Given the description of an element on the screen output the (x, y) to click on. 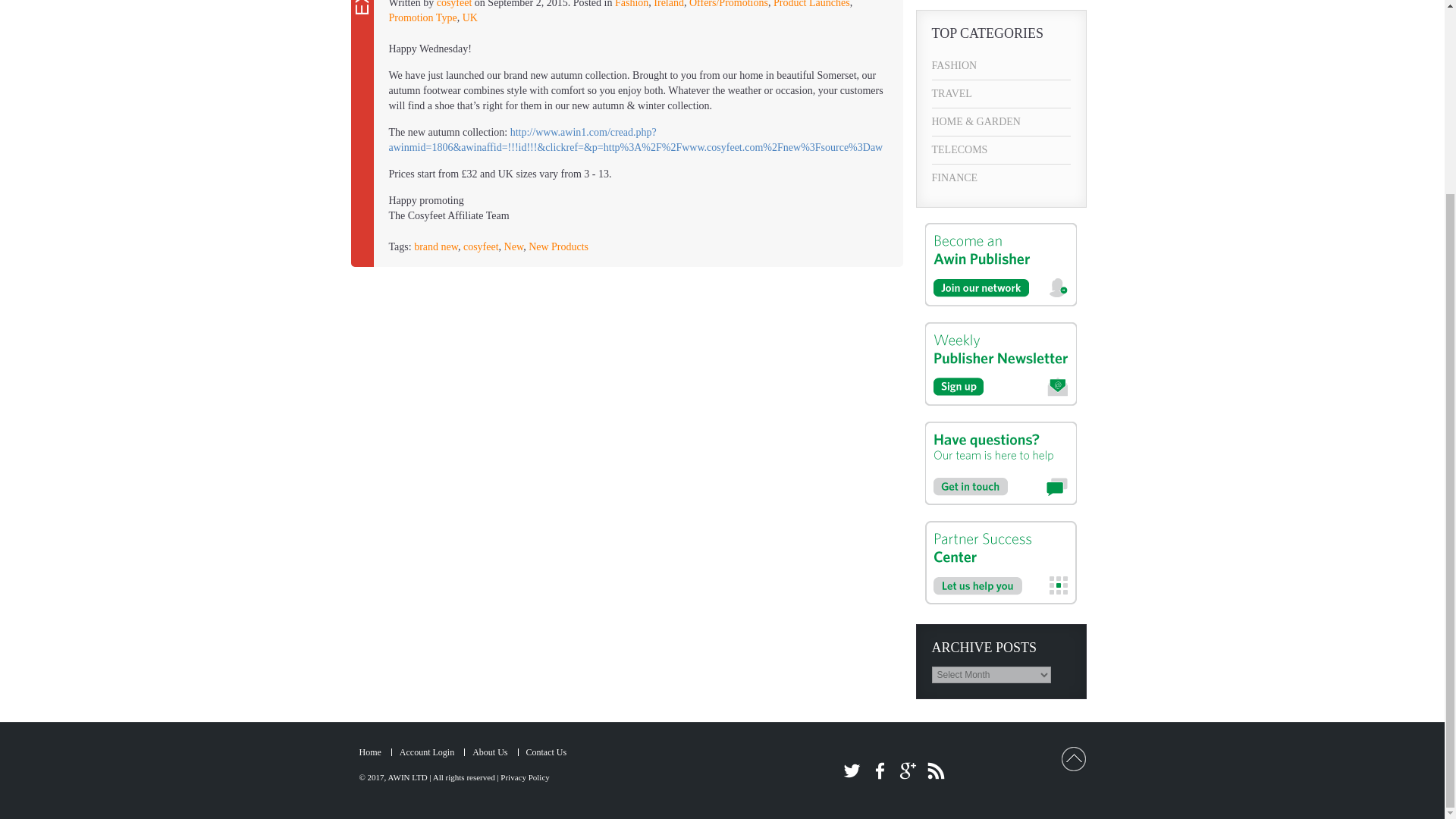
brand new (435, 246)
cosyfeet (453, 4)
Home (370, 752)
New (513, 246)
Product Launches (811, 4)
TELECOMS (1000, 149)
New Products (558, 246)
UK (470, 17)
Promotion Type (422, 17)
TRAVEL (1000, 93)
cosyfeet (481, 246)
FASHION (1000, 65)
Fashion (630, 4)
FINANCE (1000, 177)
cosyfeet (453, 4)
